Given the description of an element on the screen output the (x, y) to click on. 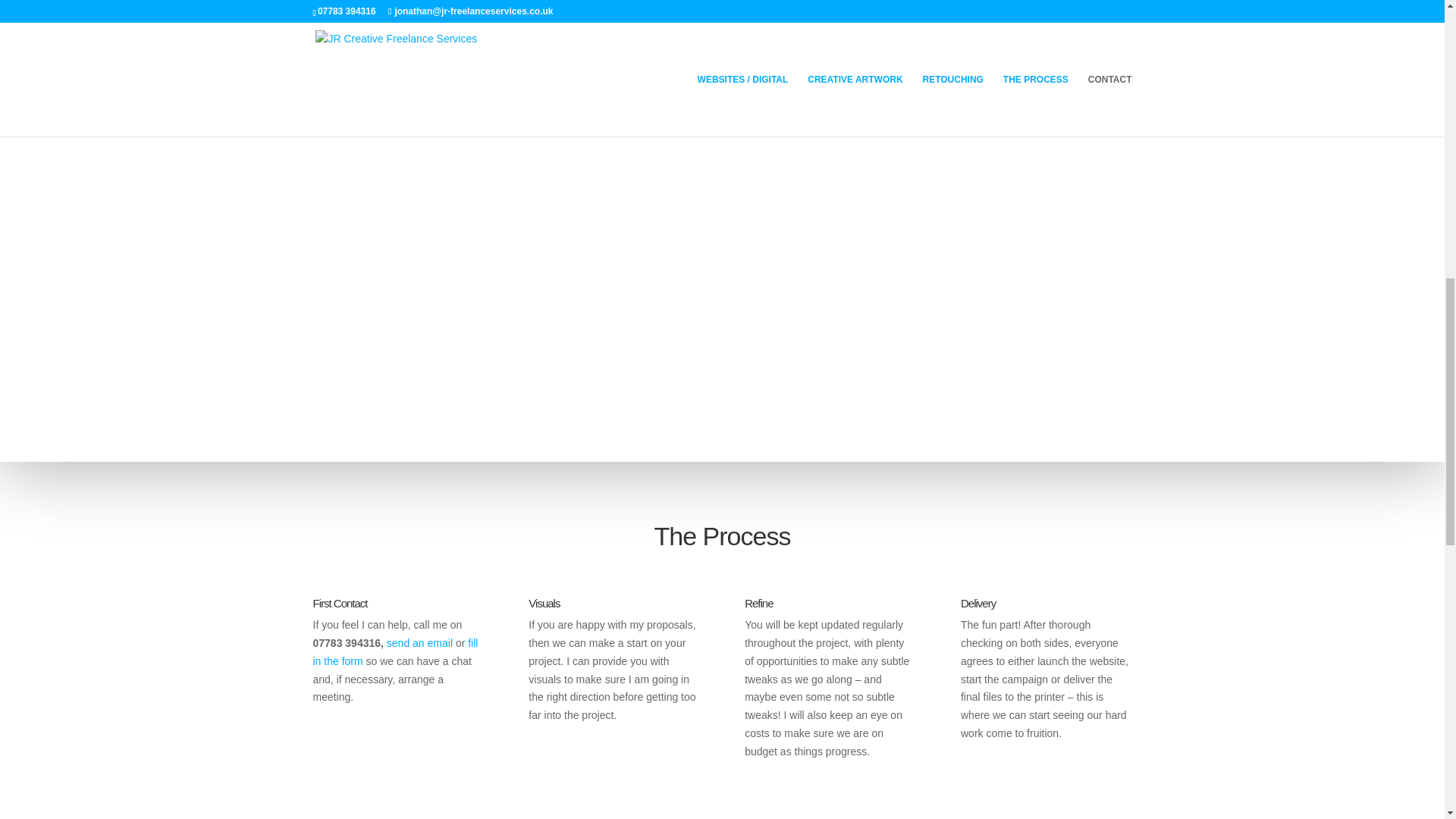
fill in the form (395, 652)
send an email (419, 643)
